Given the description of an element on the screen output the (x, y) to click on. 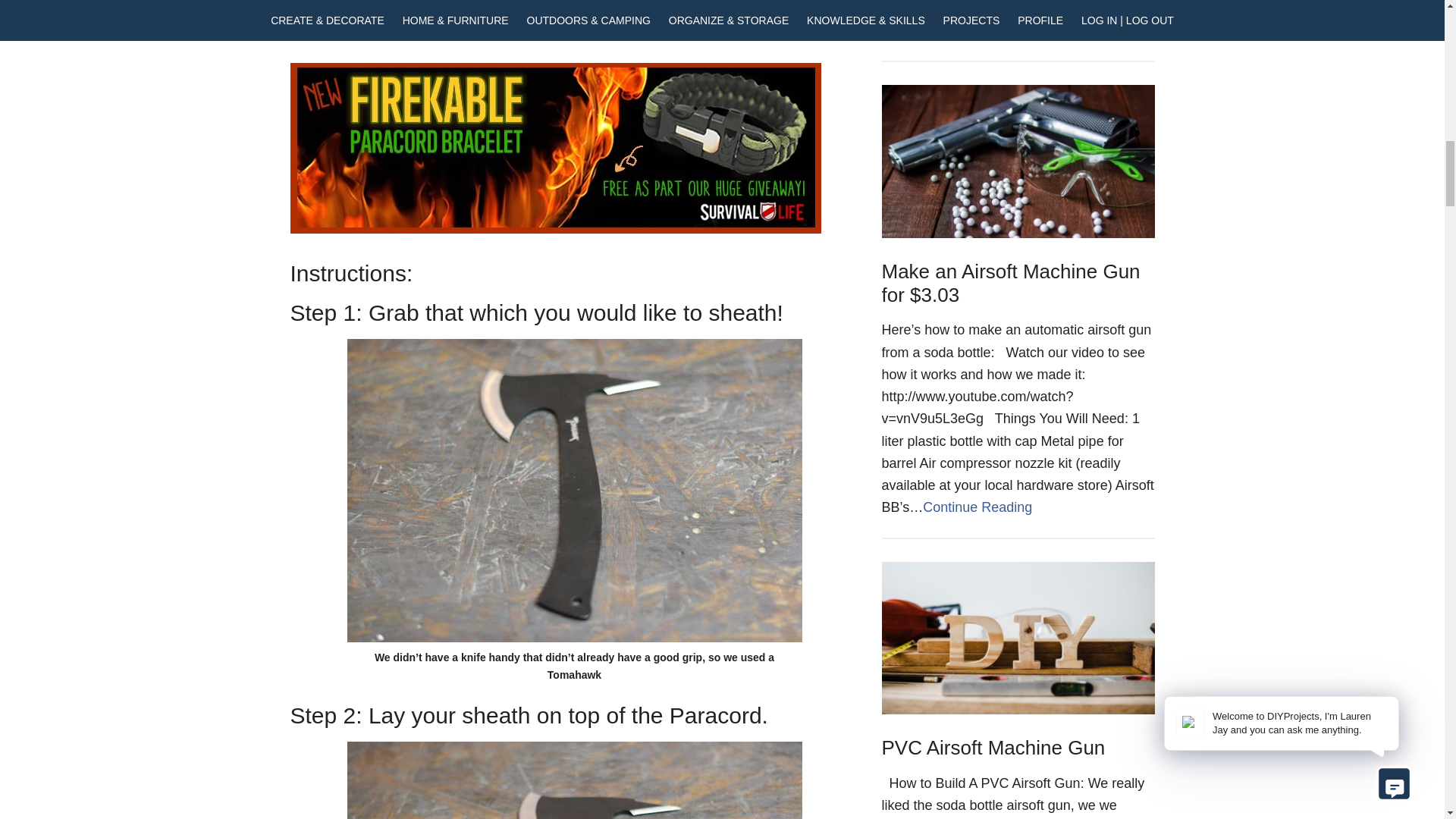
Free Paracord Bracelet - FireKable by Survival Life (555, 148)
Free FireKable Paracord Bracelet (555, 228)
